Given the description of an element on the screen output the (x, y) to click on. 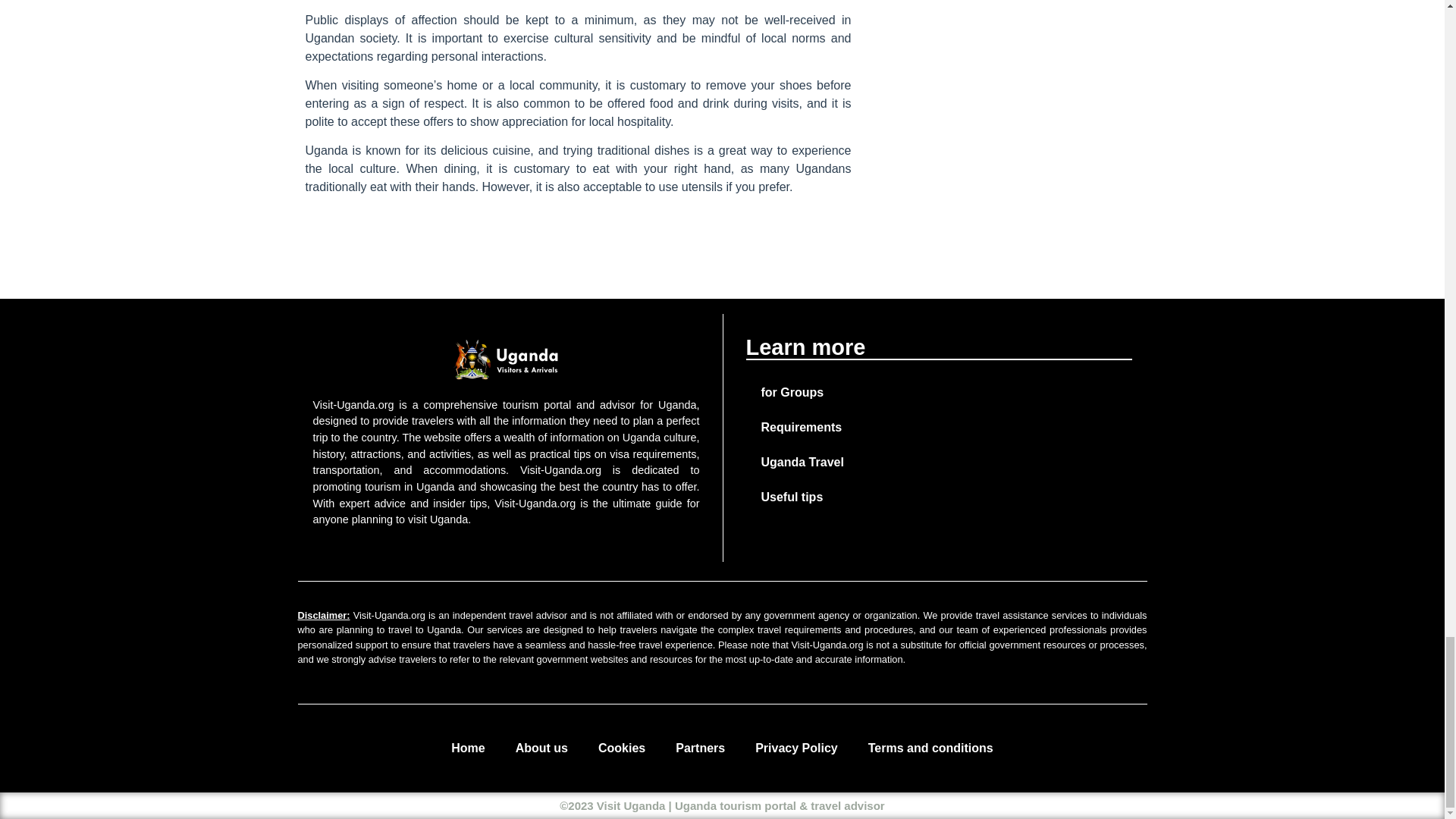
About us (541, 748)
Useful tips (938, 497)
Uganda-202306-White Transparent (505, 359)
Requirements (938, 427)
Home (467, 748)
Uganda Travel (938, 462)
for Groups (938, 392)
